Given the description of an element on the screen output the (x, y) to click on. 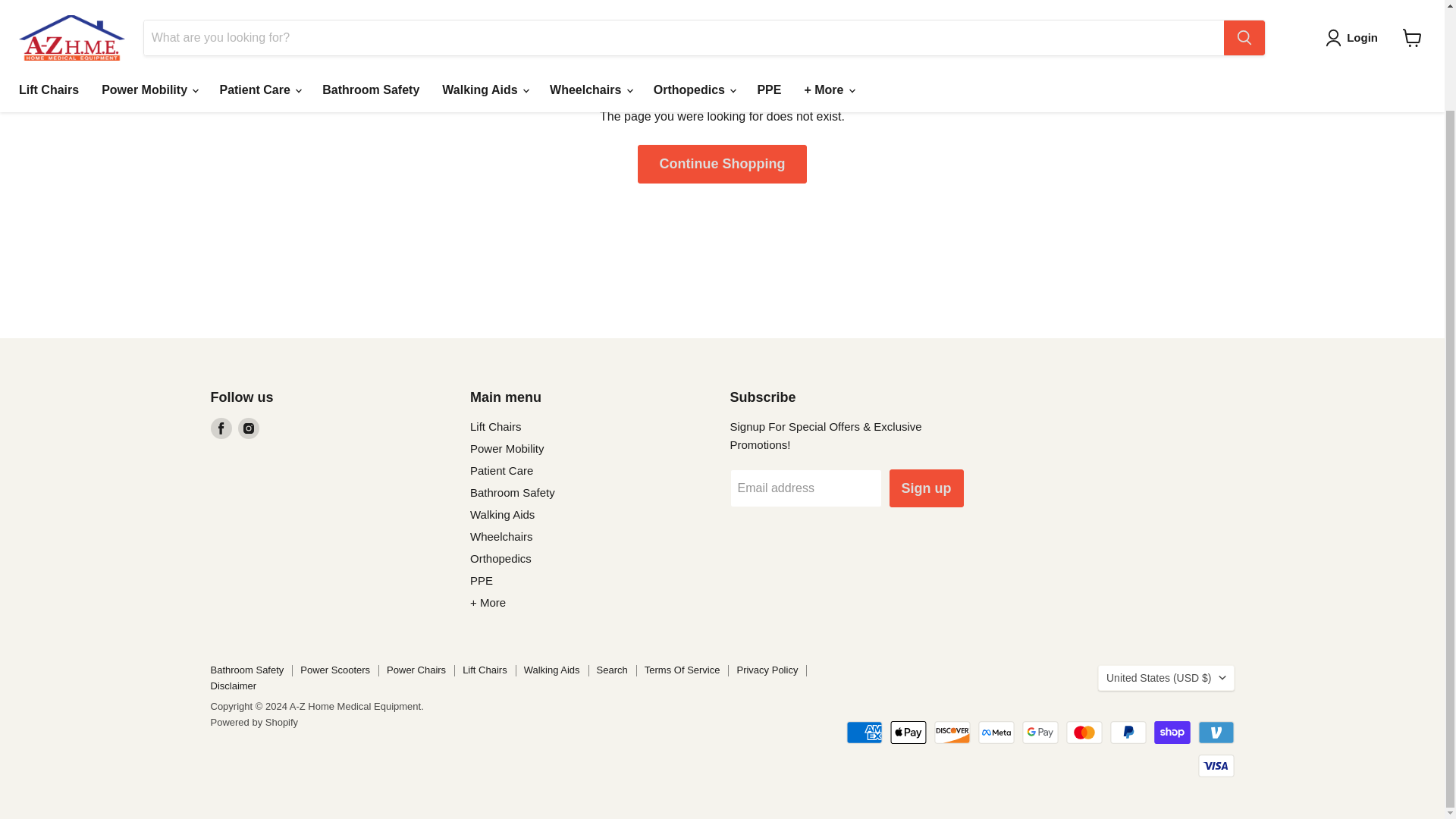
Apple Pay (907, 732)
Meta Pay (996, 732)
Venmo (1216, 732)
American Express (863, 732)
Instagram (248, 427)
PayPal (1128, 732)
Discover (952, 732)
Google Pay (1040, 732)
Facebook (221, 427)
Mastercard (1083, 732)
Shop Pay (1172, 732)
